Given the description of an element on the screen output the (x, y) to click on. 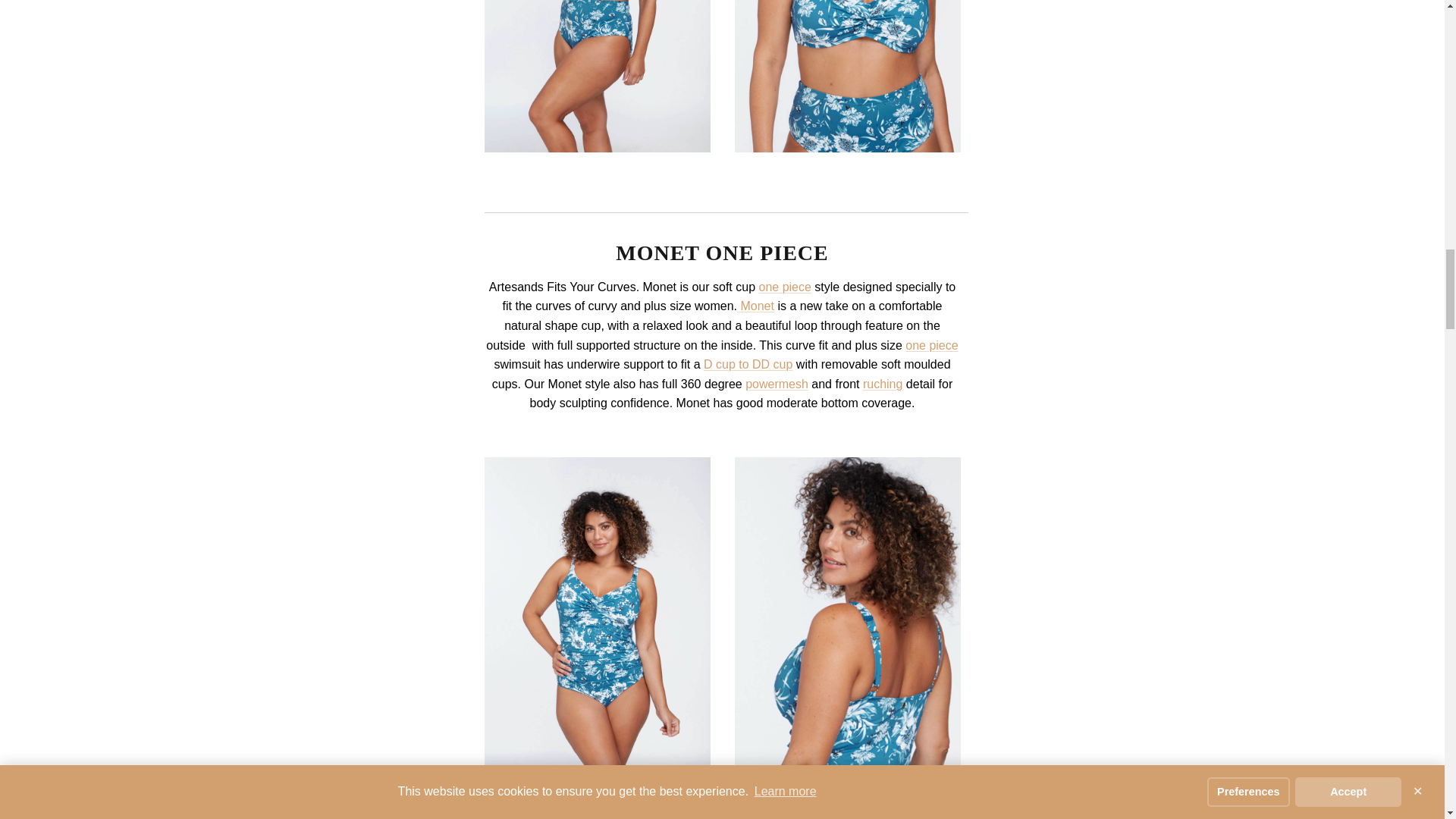
Artesands Curve Plus Size Bikini Set Swimwear (846, 147)
Artesands Curve Plus Size One Piece Swimwear (931, 345)
Artesands Curve Plus Size Monet Swimwear (755, 305)
Artesands Curve Plus Size Bikini Set Swimwear (596, 147)
Artesands Curve Plus Size One Piece Swimwear (784, 286)
